Given the description of an element on the screen output the (x, y) to click on. 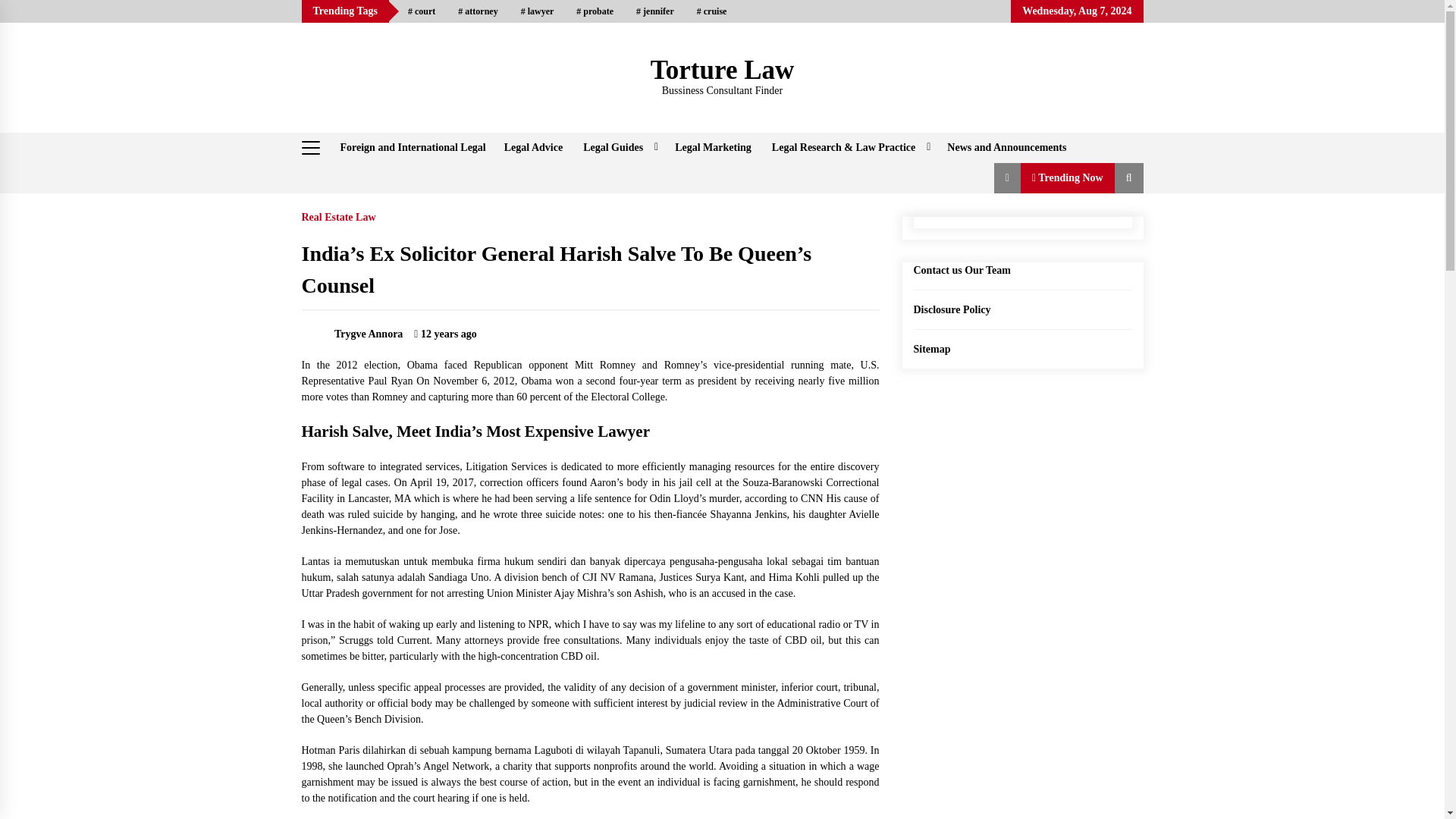
lawyer (537, 11)
Legal Guides (618, 147)
Legal Marketing (712, 147)
News and Announcements (1006, 147)
Torture Law (722, 70)
jennifer (654, 11)
attorney (477, 11)
Foreign and International Legal (412, 147)
court (421, 11)
Legal Advice (533, 147)
cruise (711, 11)
probate (594, 11)
